Given the description of an element on the screen output the (x, y) to click on. 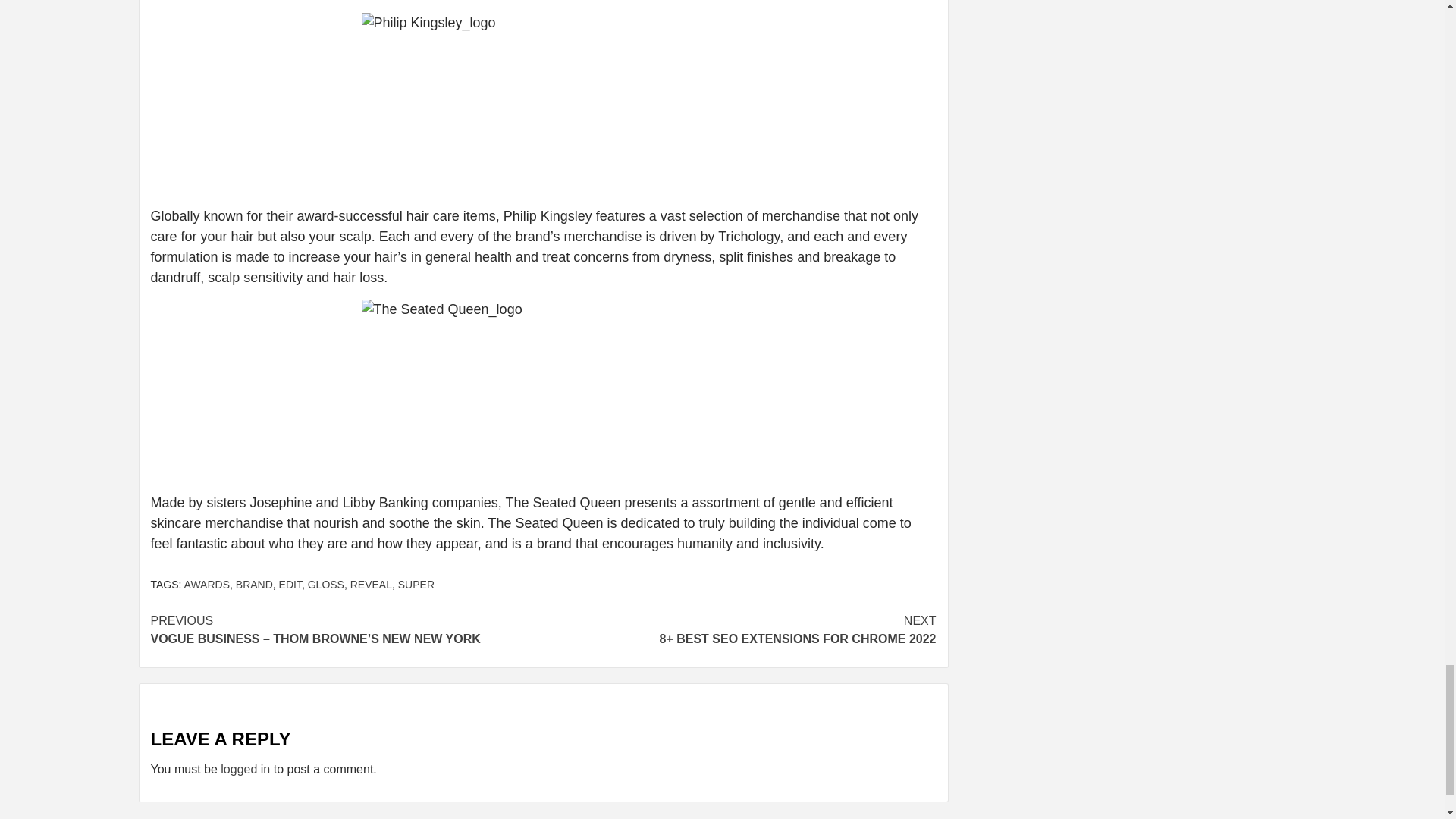
EDIT (290, 584)
BRAND (254, 584)
logged in (245, 768)
REVEAL (370, 584)
AWARDS (207, 584)
GLOSS (325, 584)
SUPER (415, 584)
